Given the description of an element on the screen output the (x, y) to click on. 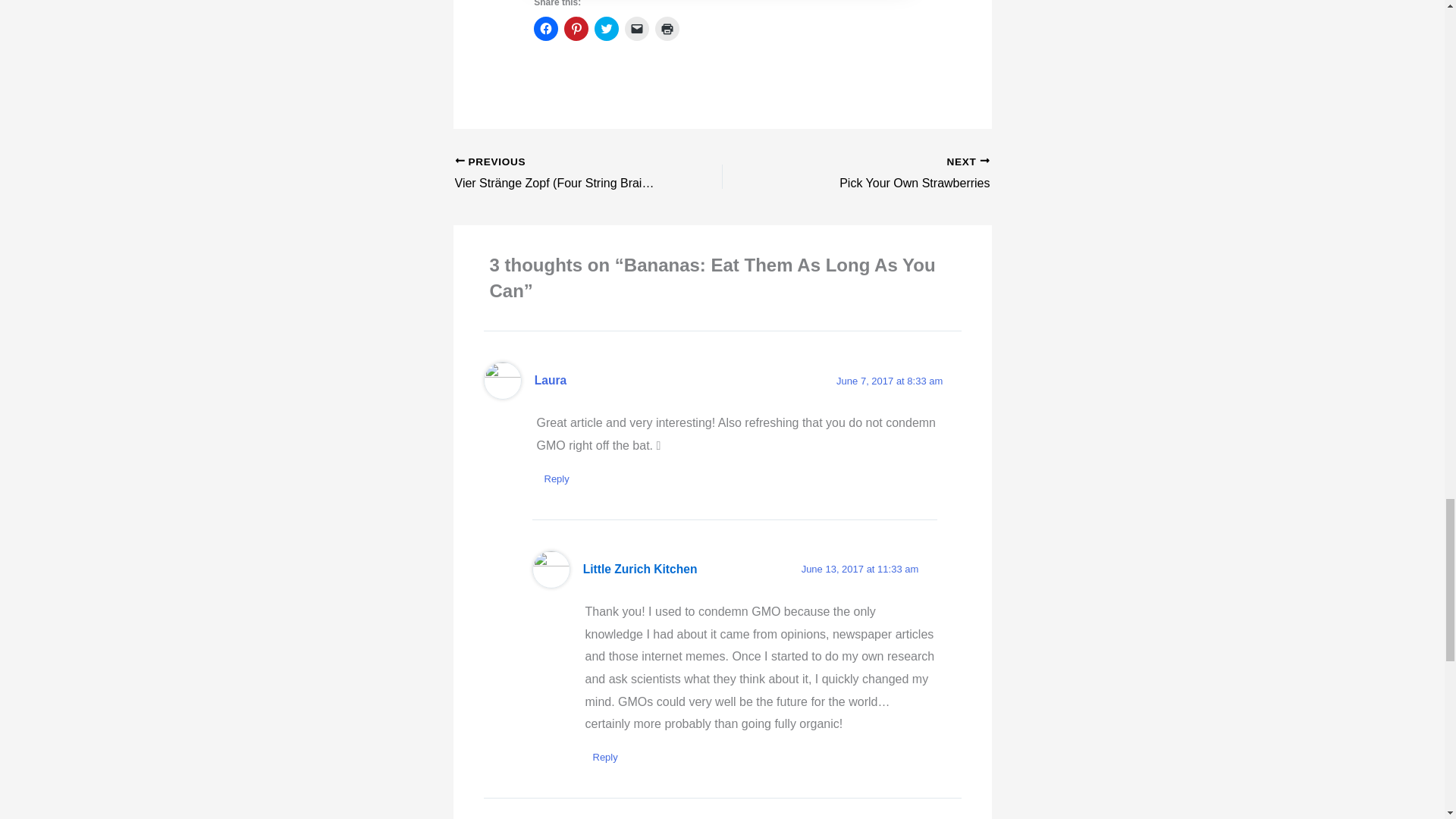
June 13, 2017 at 11:33 am (860, 568)
Click to share on Pinterest (576, 28)
Click to print (667, 28)
Click to email a link to a friend (636, 28)
June 7, 2017 at 8:33 am (888, 380)
Click to share on Facebook (545, 28)
Click to share on Twitter (882, 174)
Pick Your Own Strawberries (606, 28)
Laura (882, 174)
Reply (550, 379)
